Given the description of an element on the screen output the (x, y) to click on. 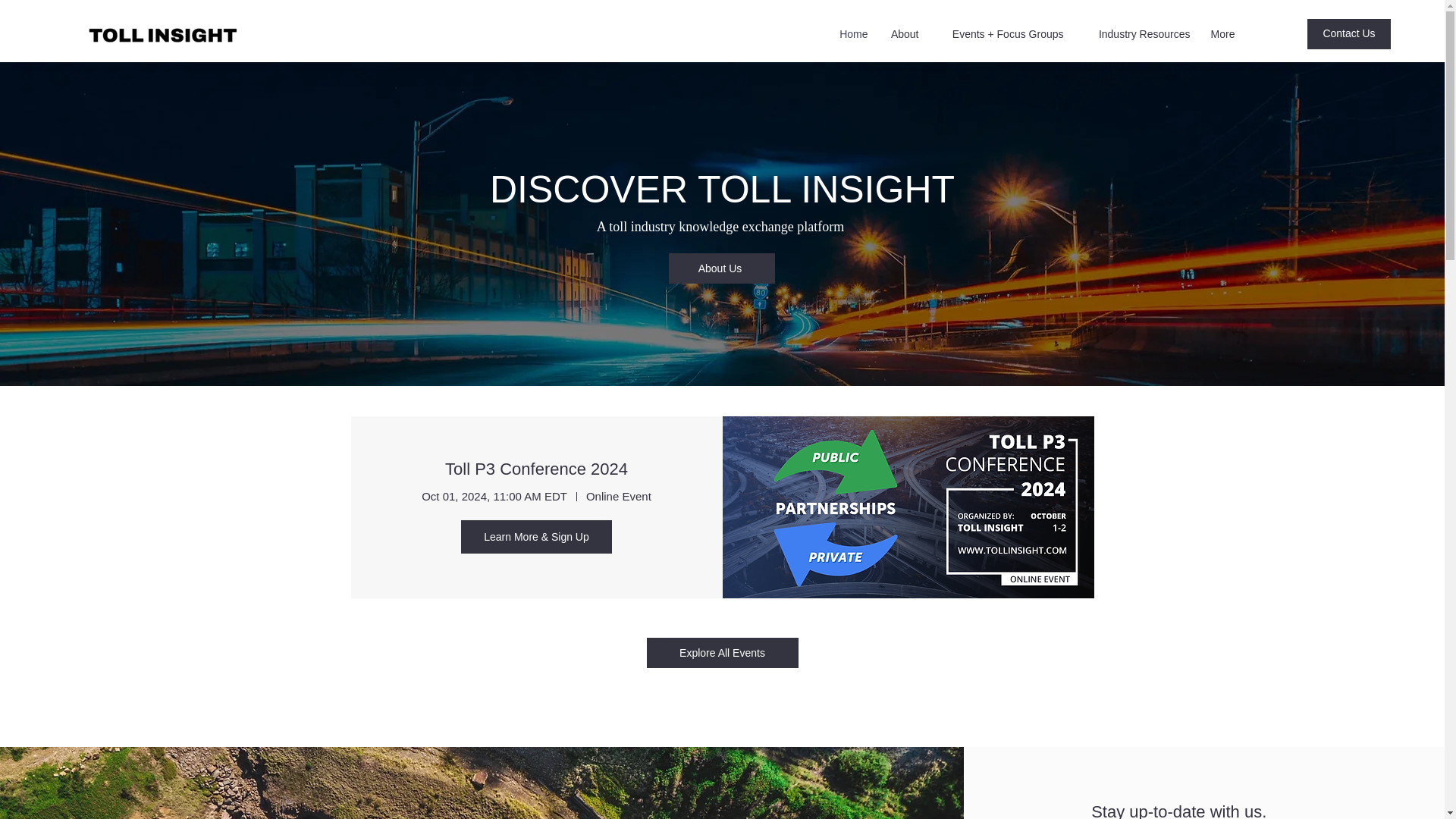
Home (851, 33)
Explore All Events (721, 653)
About Us (721, 268)
Toll P3 Conference 2024 (536, 468)
Contact Us (1348, 33)
About (900, 33)
